Given the description of an element on the screen output the (x, y) to click on. 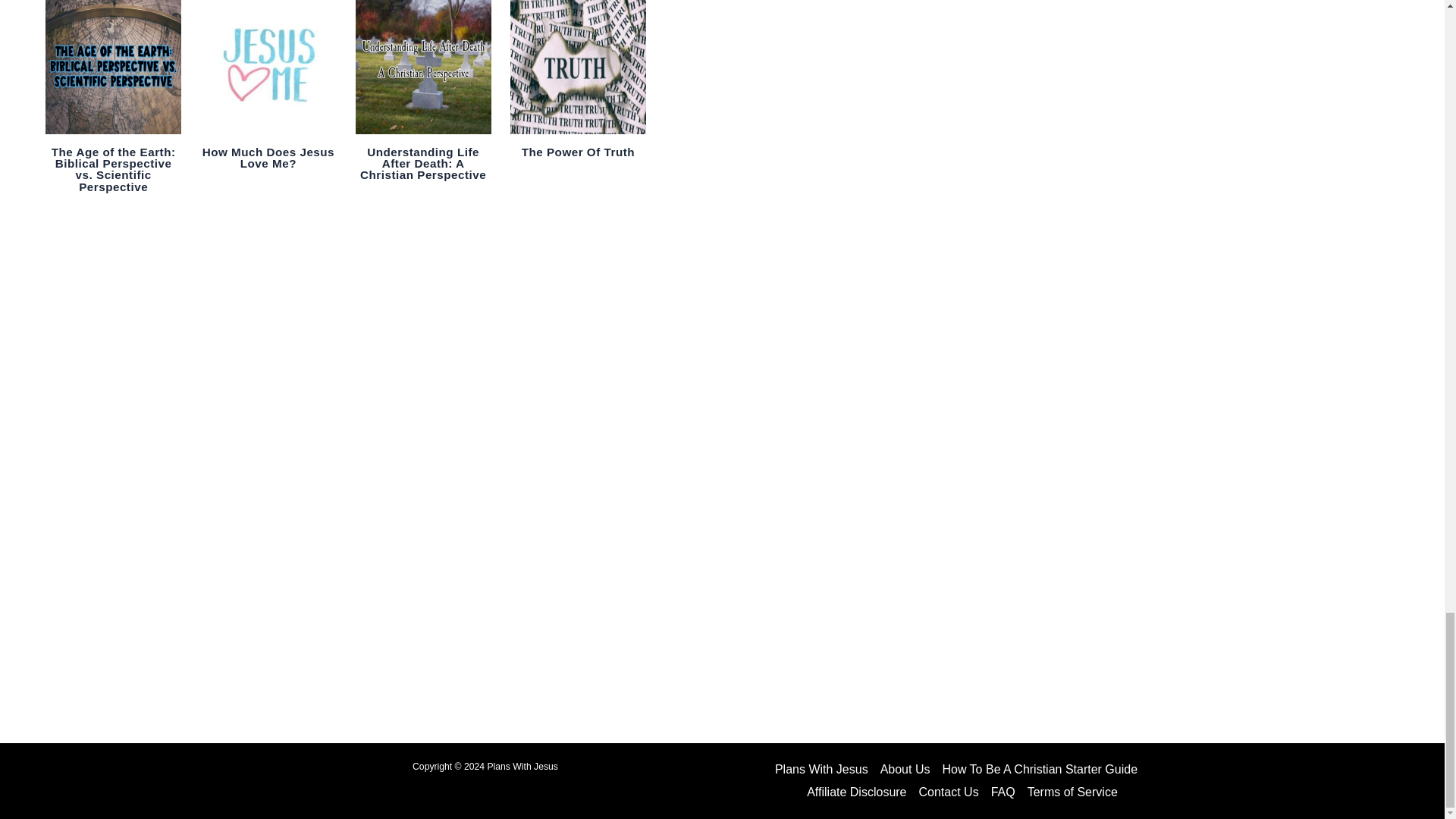
How Much Does Jesus Love Me? (268, 157)
Understanding Life After Death: A Christian Perspective (422, 162)
The Power Of Truth (577, 151)
